Given the description of an element on the screen output the (x, y) to click on. 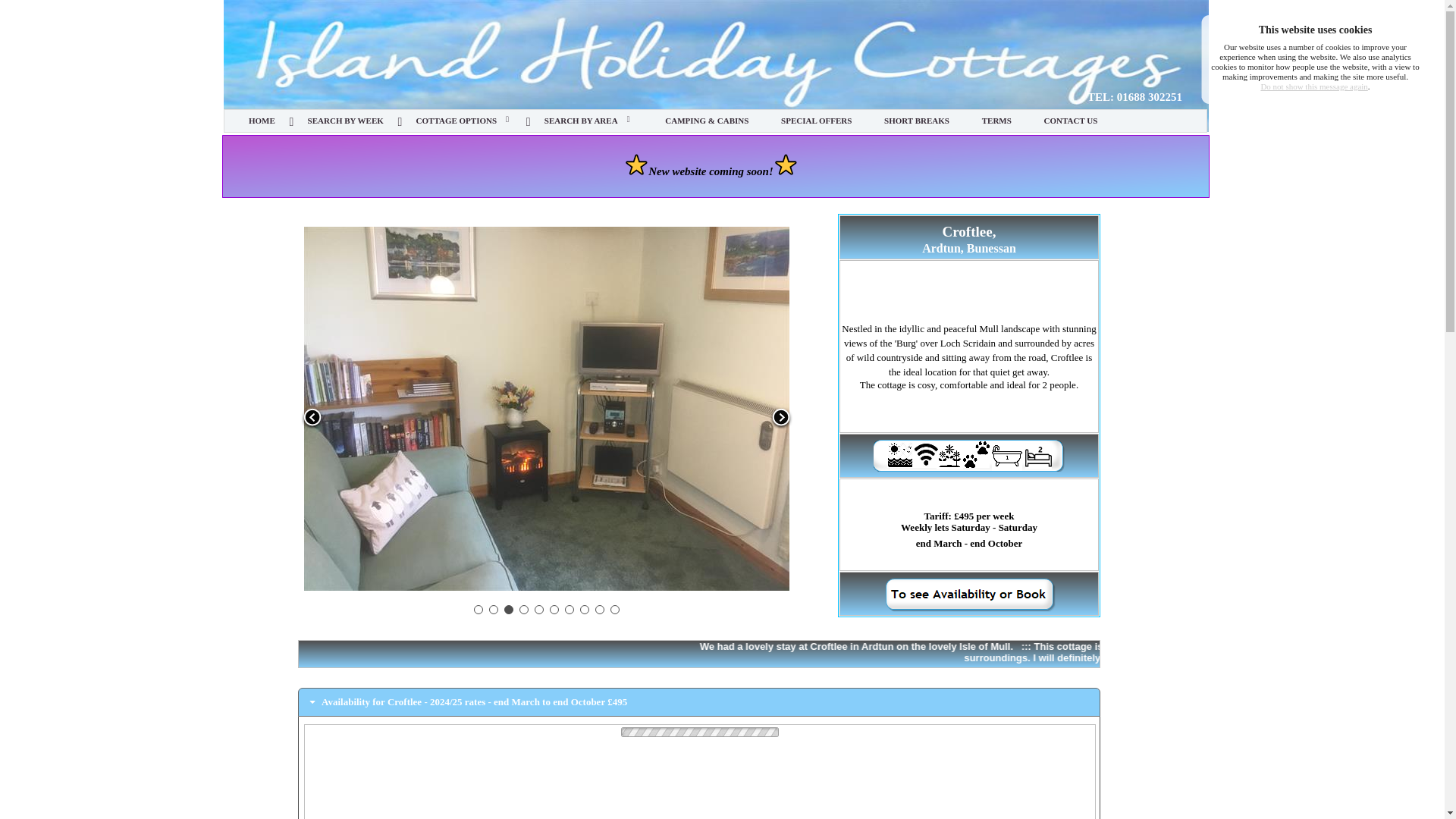
SEARCH BY WEEK (345, 120)
HOME (261, 120)
COTTAGE OPTIONS (456, 120)
SEARCH BY AREA (580, 120)
SEARCH BY AREA (580, 120)
SEARCH AVAILABILITY (345, 120)
COTTAGE OPTIONS (456, 120)
HOME (261, 120)
